Given the description of an element on the screen output the (x, y) to click on. 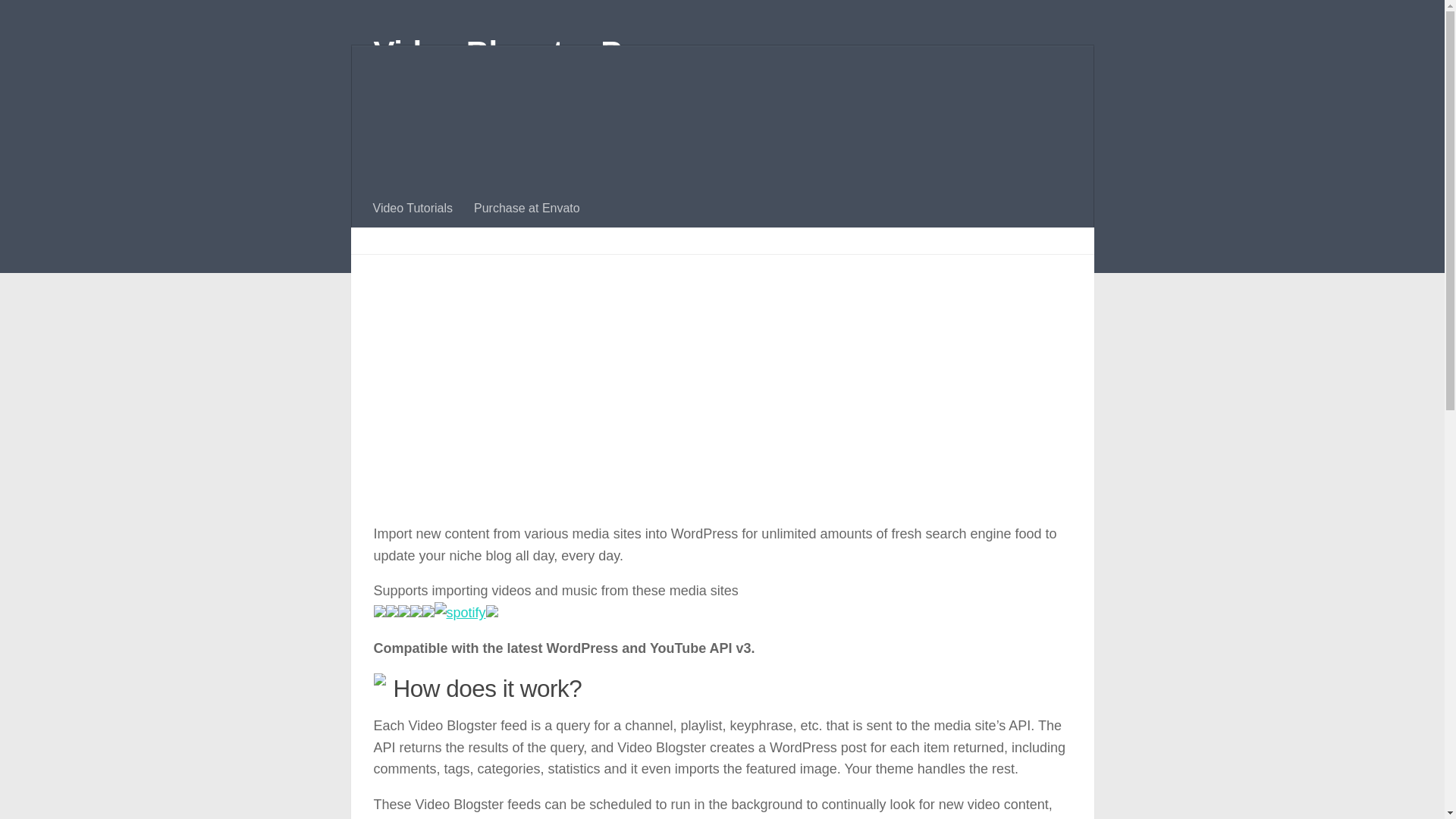
Video Tutorials (413, 208)
Purchase at Envato (527, 208)
YouTube video player (584, 396)
Video Blogster Pro (512, 53)
Skip to content (63, 20)
